Given the description of an element on the screen output the (x, y) to click on. 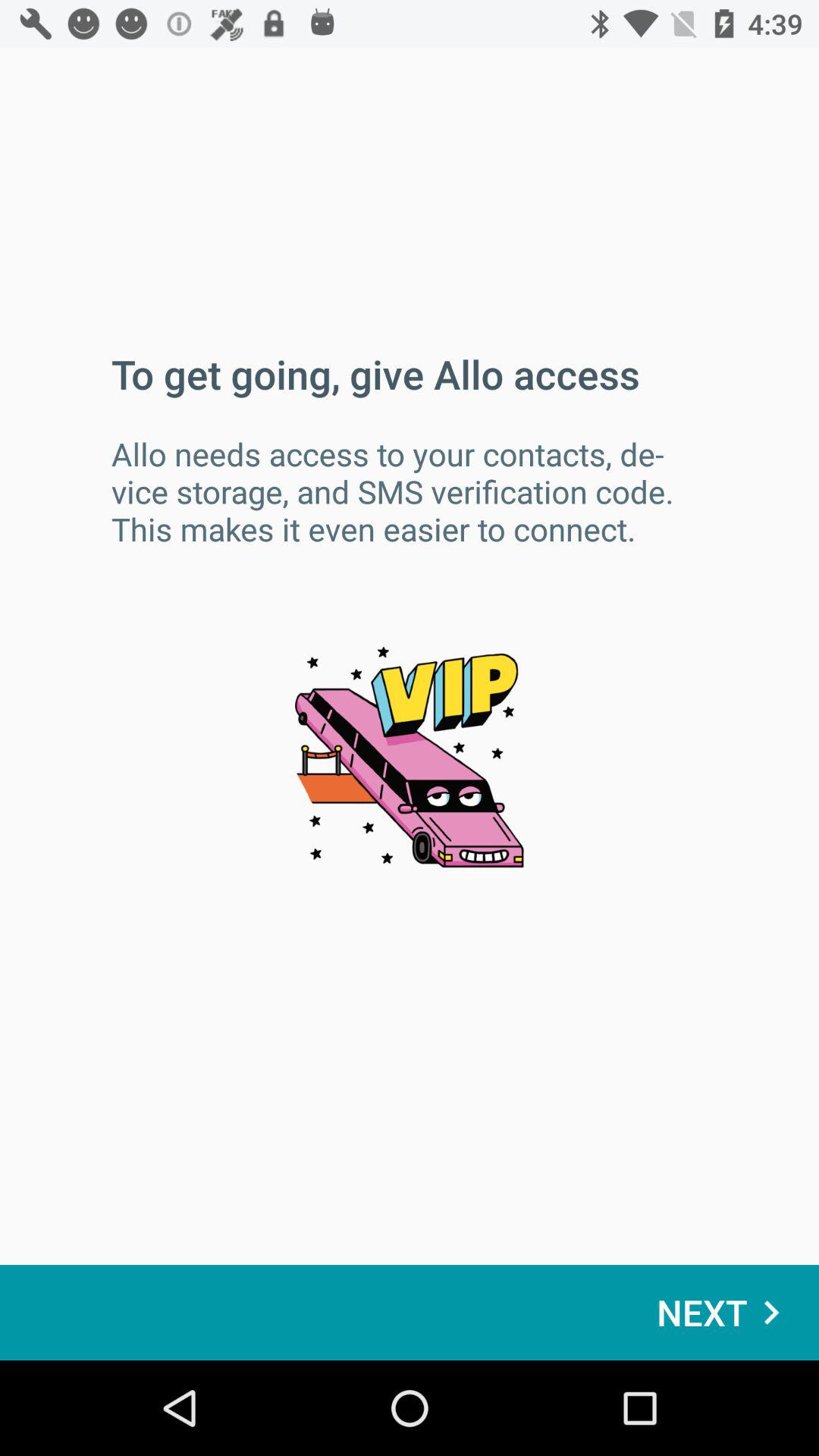
launch the icon at the bottom right corner (726, 1312)
